Given the description of an element on the screen output the (x, y) to click on. 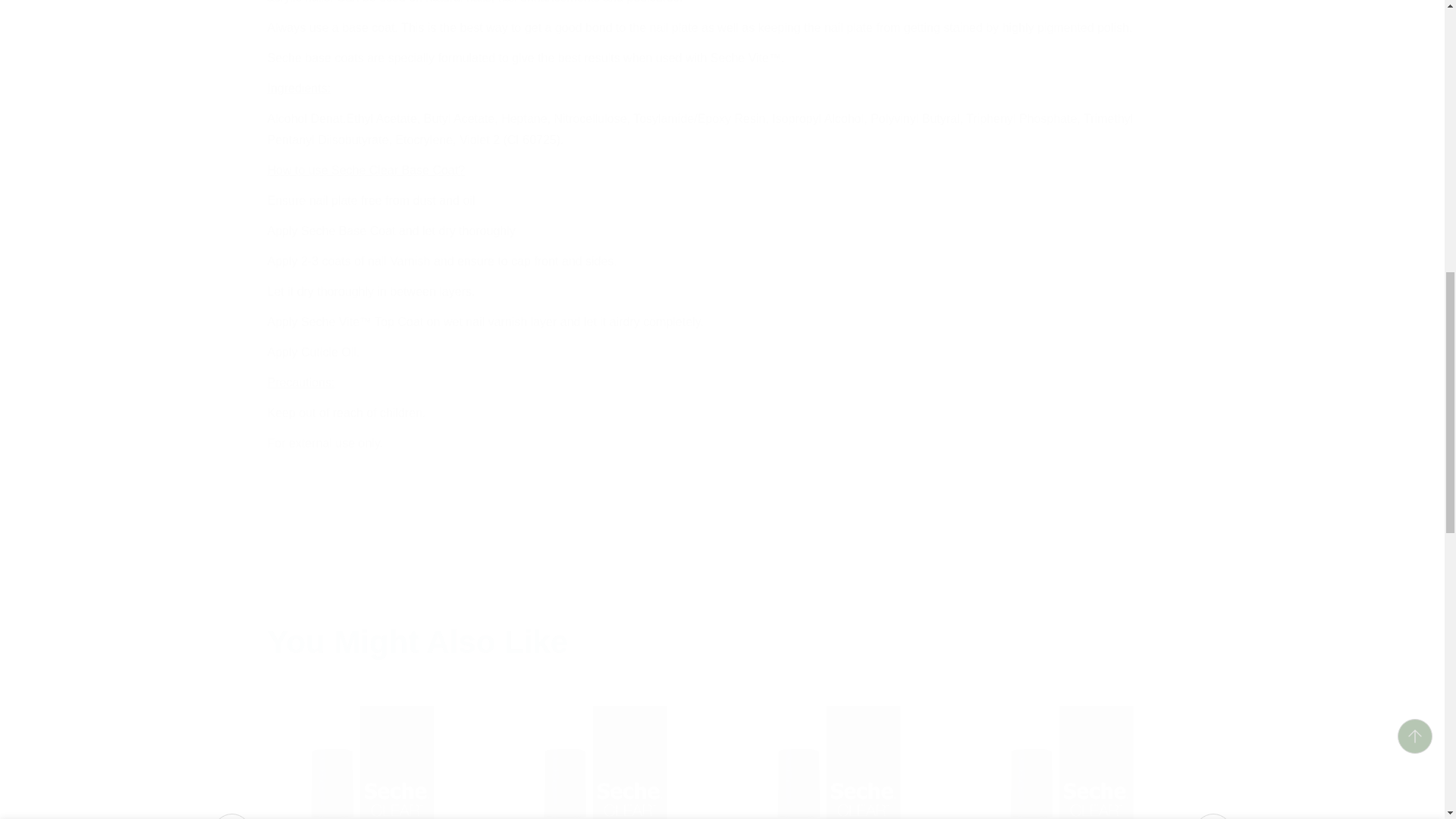
1 (926, 28)
You Might Also Like (721, 642)
